Given the description of an element on the screen output the (x, y) to click on. 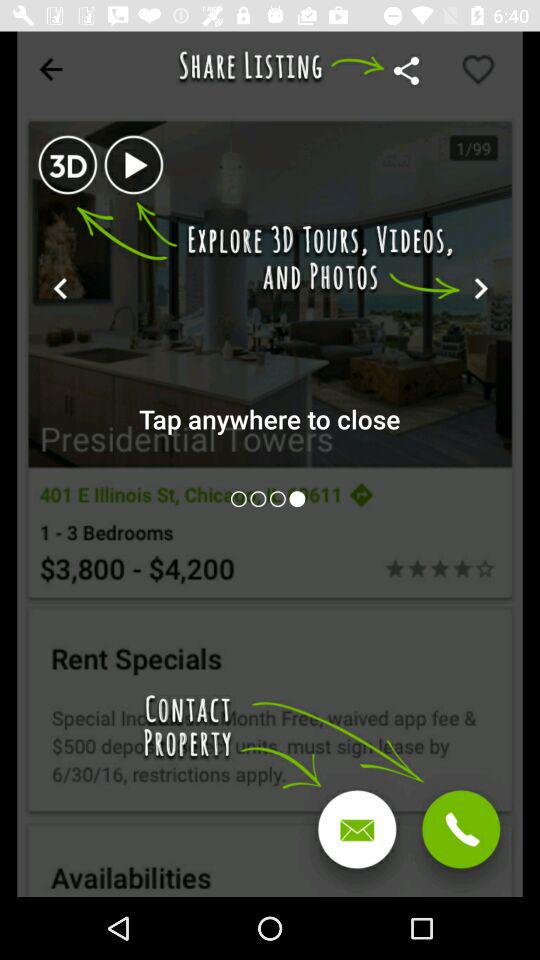
move previous photo (279, 498)
